Given the description of an element on the screen output the (x, y) to click on. 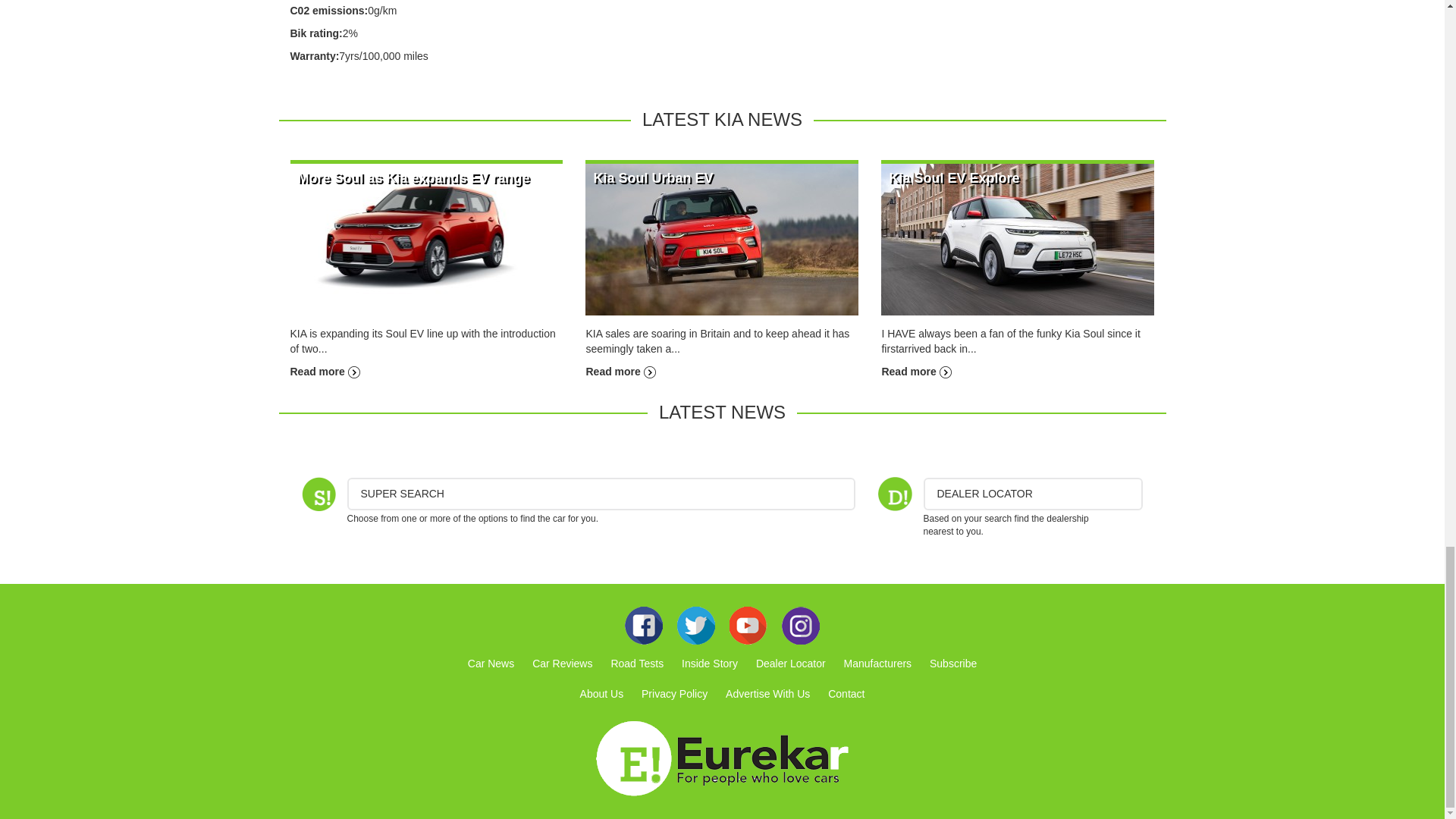
Kia Soul EV Explore (953, 177)
Read more (324, 371)
Kia Soul EV Explore (1017, 238)
Kia Soul Urban EV (620, 371)
Read more (620, 371)
Kia Soul Urban EV (652, 177)
More Soul as Kia expands EV range (425, 238)
Kia Soul Urban EV (722, 238)
More Soul as Kia expands EV range (324, 371)
Kia Soul EV Explore (915, 371)
SUPER SEARCH (601, 493)
More Soul as Kia expands EV range (413, 177)
Kia Soul Urban EV (652, 177)
DEALER LOCATOR (1032, 493)
More Soul as Kia expands EV range (413, 177)
